Given the description of an element on the screen output the (x, y) to click on. 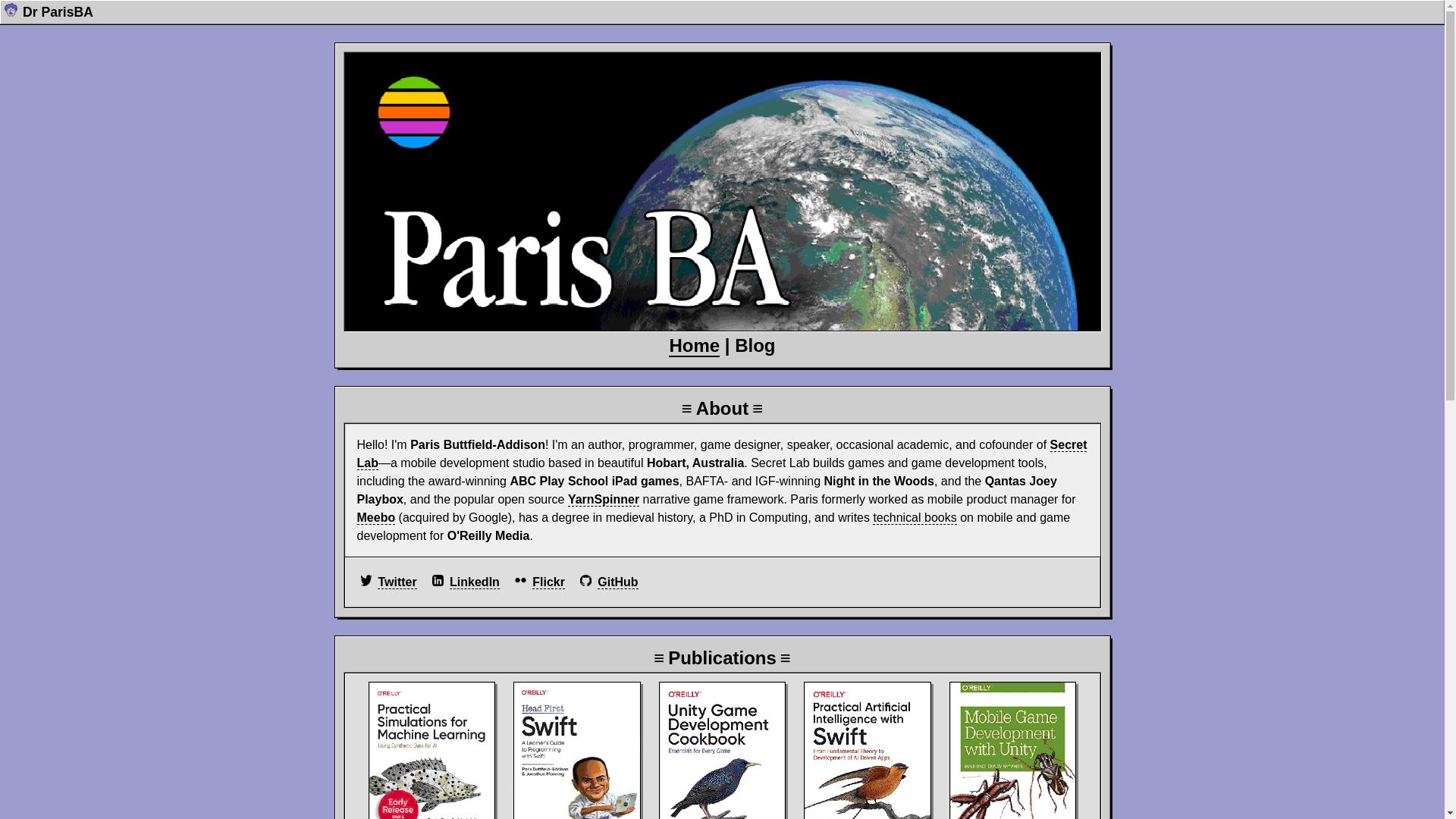
Twitter Element type: text (396, 582)
Meebo Element type: text (375, 517)
YarnSpinner Element type: text (603, 499)
Blog Element type: text (754, 345)
technical books Element type: text (914, 517)
LinkedIn Element type: text (474, 582)
Secret Lab Element type: text (721, 454)
Home Element type: text (693, 346)
Flickr Element type: text (548, 582)
GitHub Element type: text (617, 582)
